Given the description of an element on the screen output the (x, y) to click on. 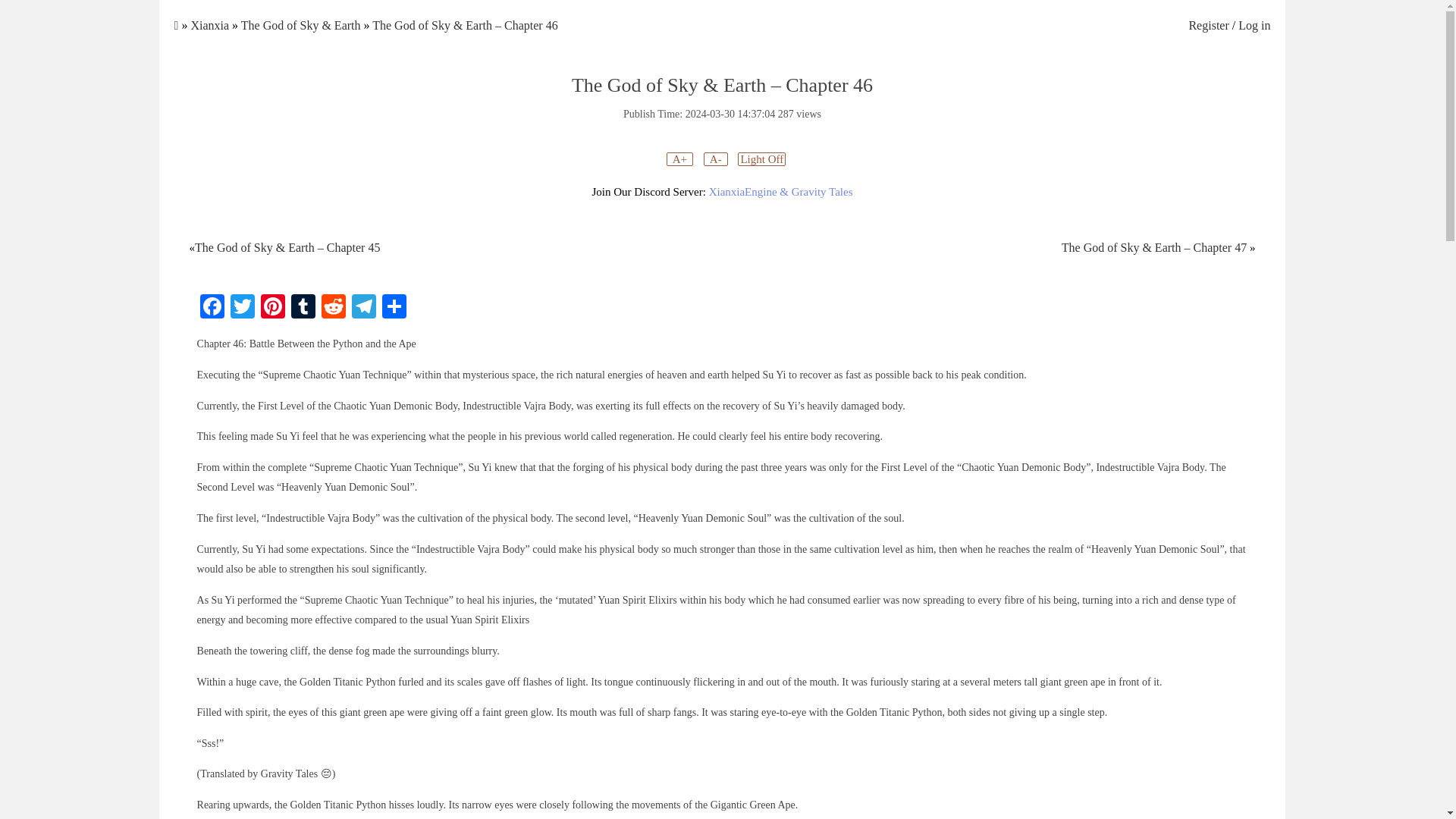
Pinterest (272, 308)
Reddit (333, 308)
Facebook (211, 308)
Pinterest (272, 308)
Telegram (363, 308)
Xianxia (209, 24)
Register (1208, 24)
Reddit (333, 308)
Tumblr (303, 308)
Log in (1254, 24)
Tumblr (303, 308)
Telegram (363, 308)
Twitter (242, 308)
Twitter (242, 308)
Facebook (211, 308)
